Given the description of an element on the screen output the (x, y) to click on. 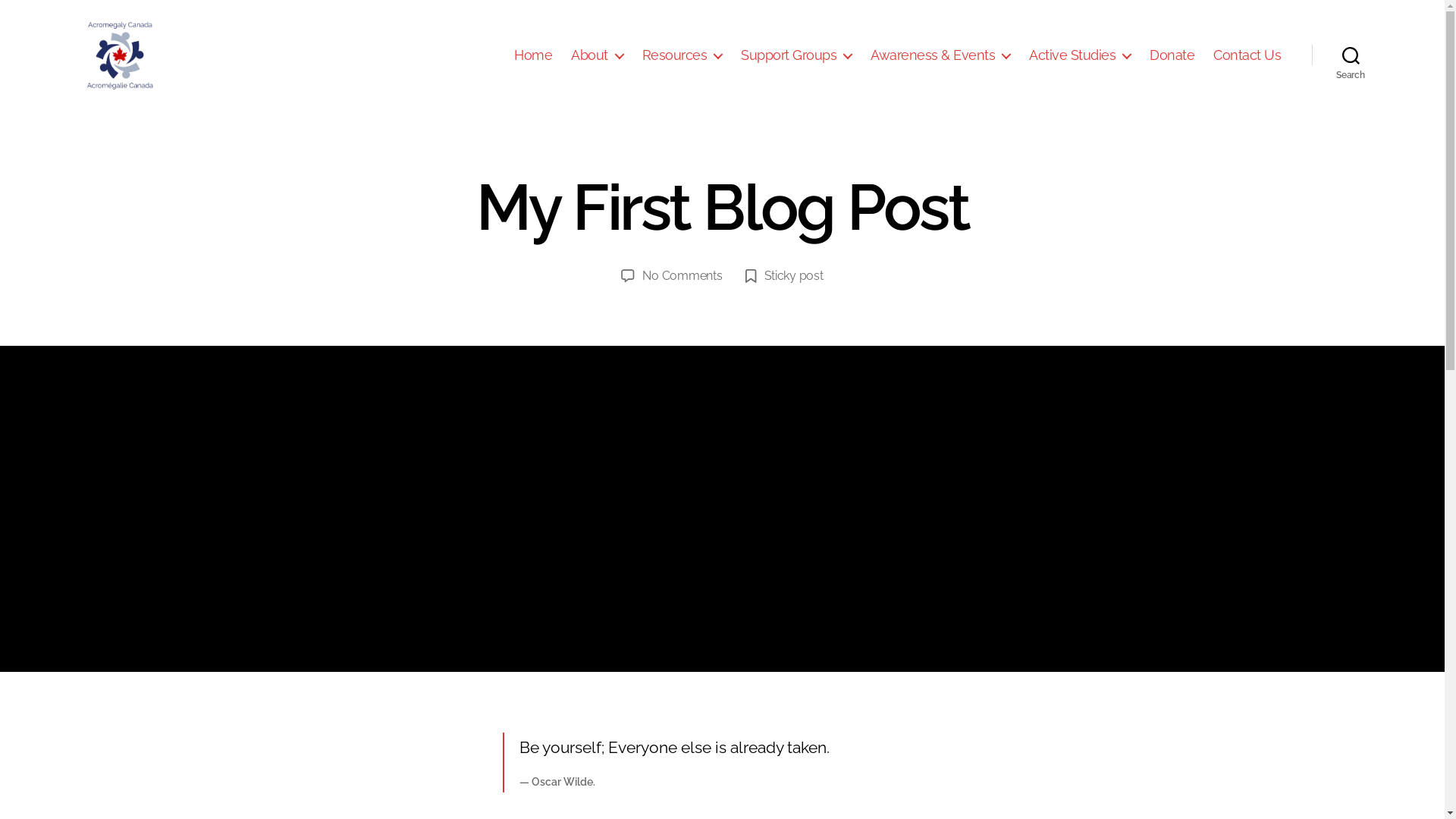
UNCATEGORIZED Element type: text (343, 264)
Support Groups Element type: text (795, 55)
Resources Element type: text (682, 55)
About Element type: text (597, 55)
Home Element type: text (533, 55)
Awareness & Events Element type: text (940, 55)
Contact Us Element type: text (1246, 55)
Donate Element type: text (1171, 55)
Search Element type: text (1350, 55)
Active Studies Element type: text (1079, 55)
No Comments
on My First Blog Post Element type: text (681, 275)
